Given the description of an element on the screen output the (x, y) to click on. 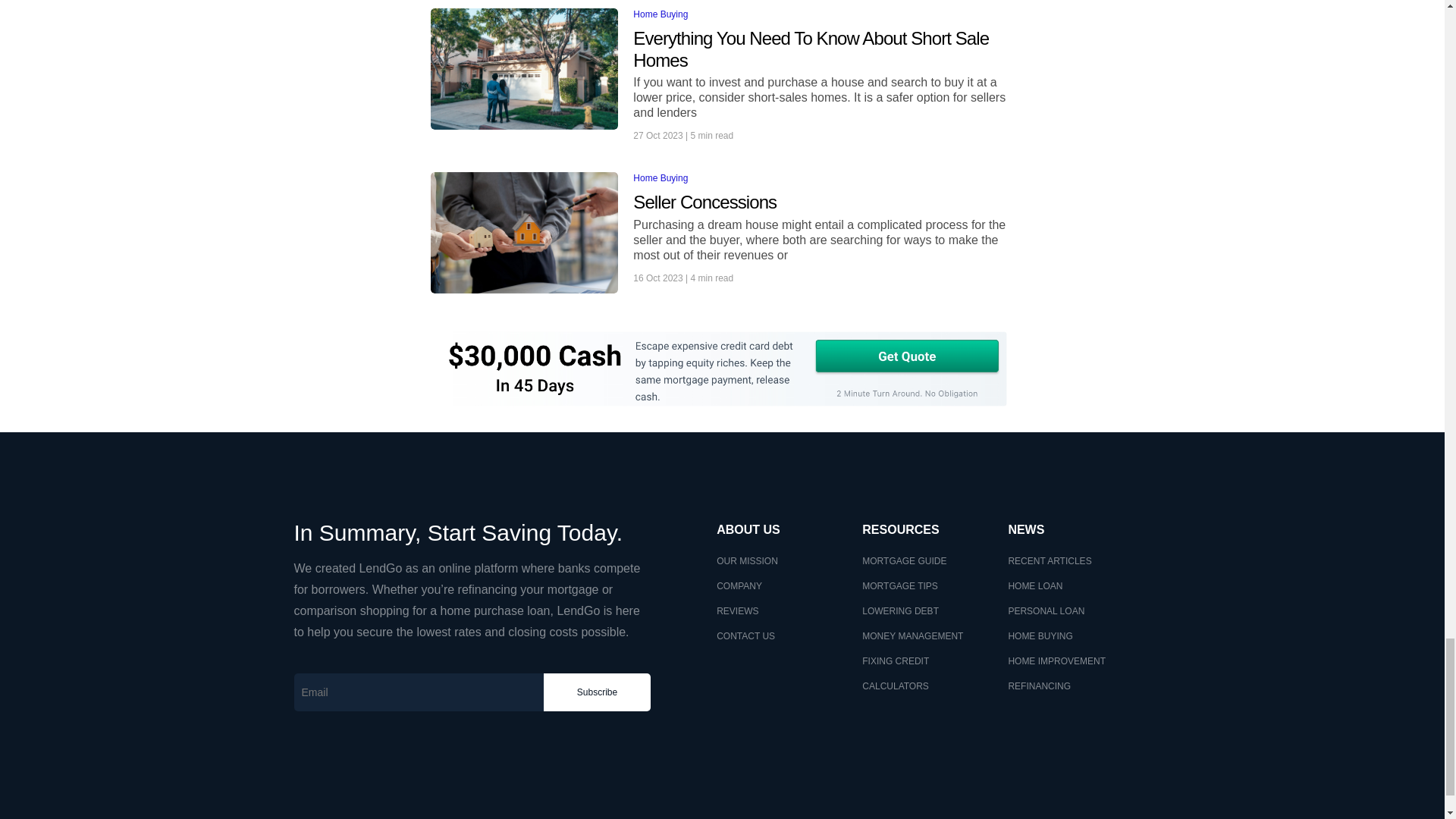
OUR MISSION (746, 561)
Seller Concessions (823, 202)
Home Buying (660, 14)
Home Buying (660, 177)
Everything You Need To Know About Short Sale Homes (823, 49)
Subscribe (596, 692)
COMPANY (738, 585)
CONTACT US (745, 635)
REVIEWS (737, 611)
